Given the description of an element on the screen output the (x, y) to click on. 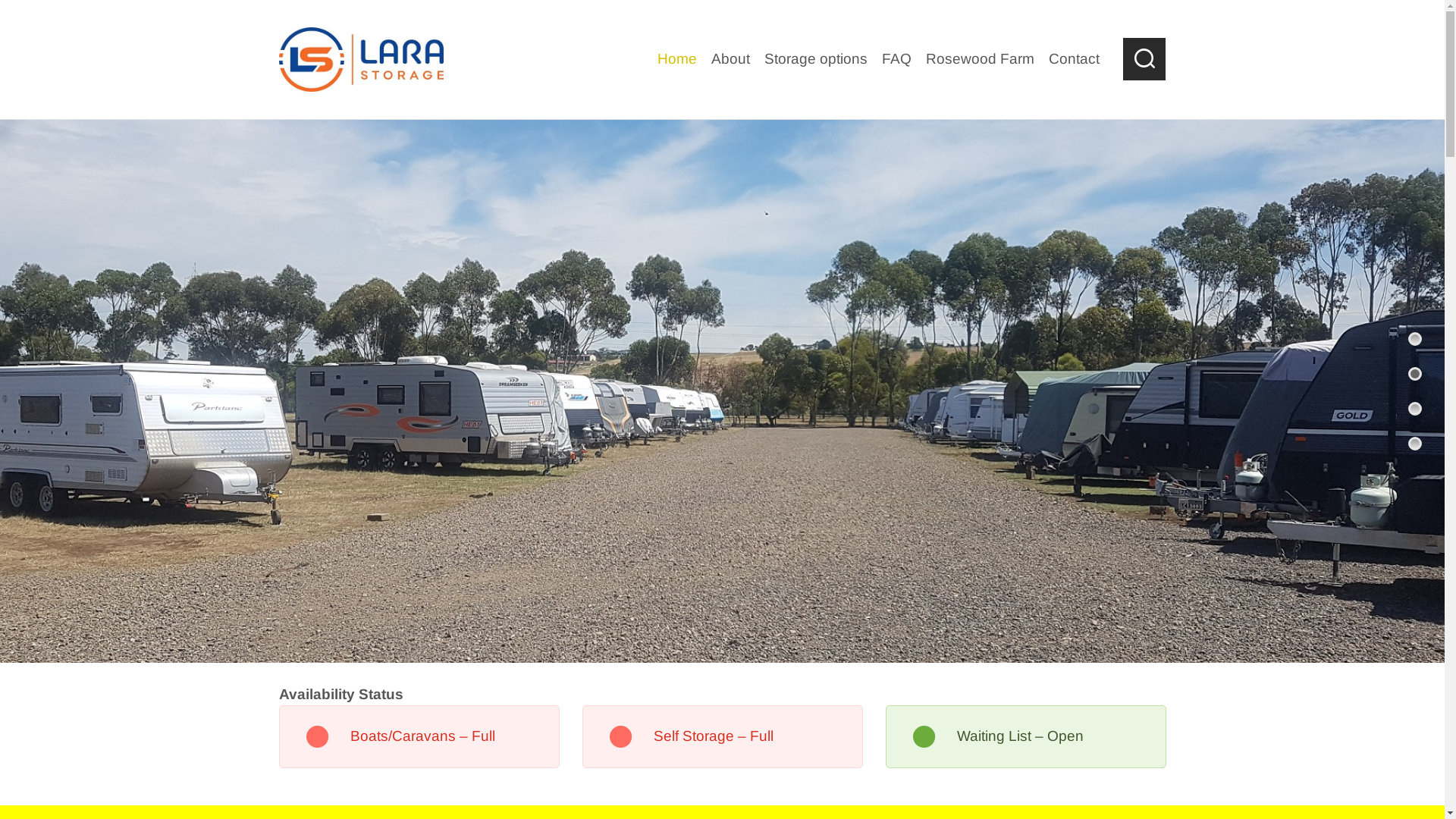
Storage options Element type: text (816, 59)
Contact Element type: text (1074, 59)
About Element type: text (730, 59)
Rosewood Farm Element type: text (980, 59)
Home Element type: text (677, 59)
FAQ Element type: text (897, 59)
